Given the description of an element on the screen output the (x, y) to click on. 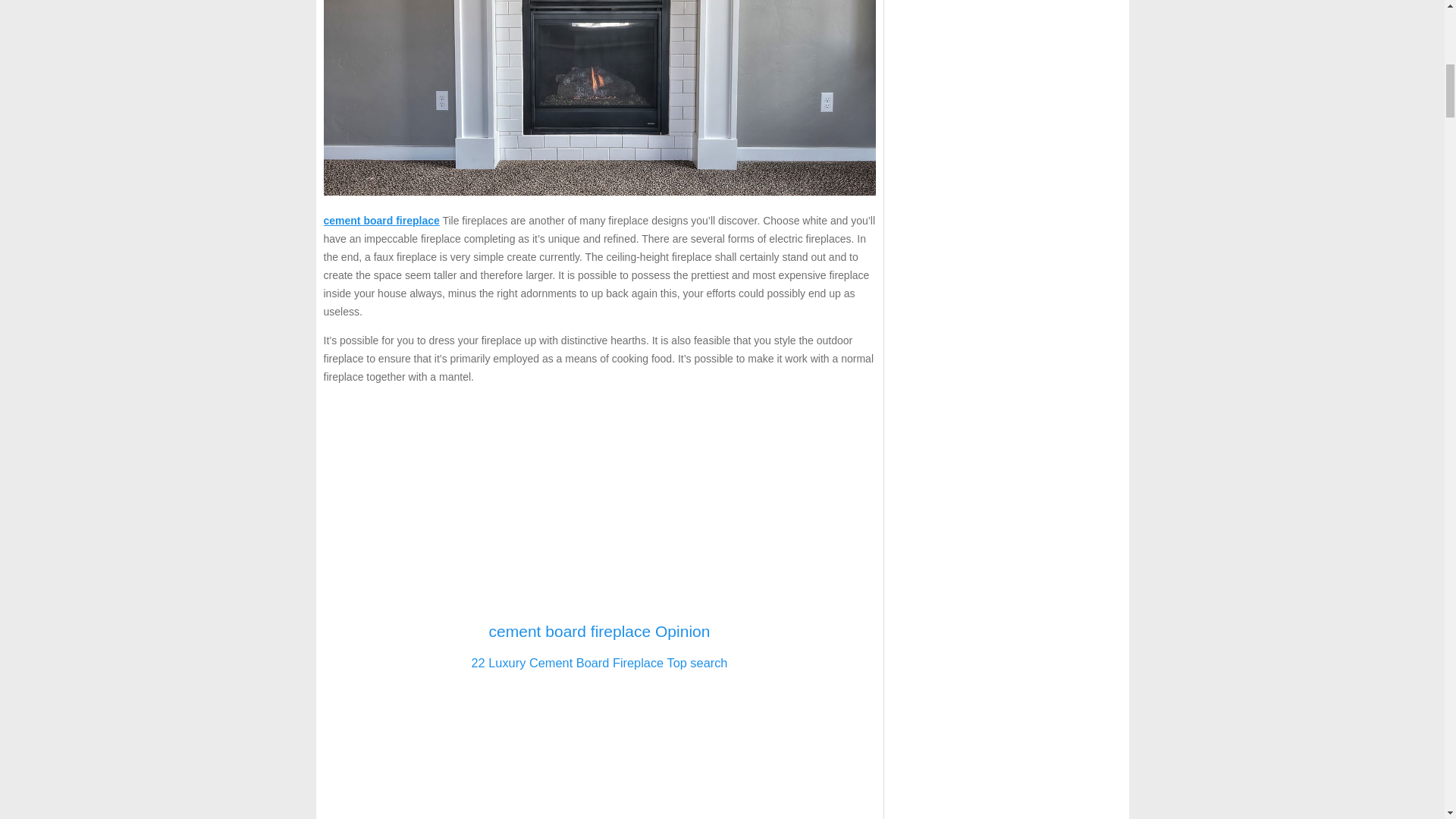
cement board fireplace (381, 220)
Advertisement (599, 502)
cement board fireplace (381, 220)
Advertisement (599, 751)
